Given the description of an element on the screen output the (x, y) to click on. 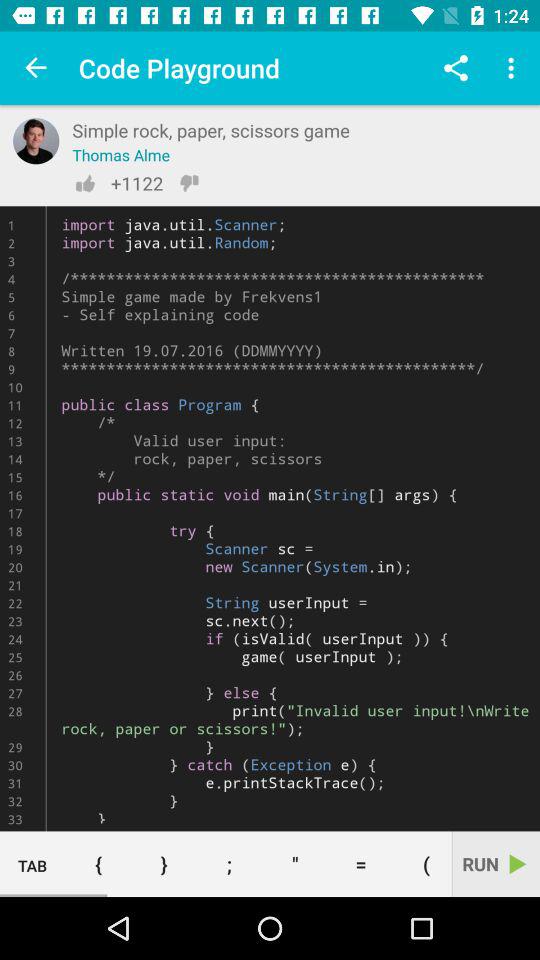
click the item to the left of the = (295, 863)
